Given the description of an element on the screen output the (x, y) to click on. 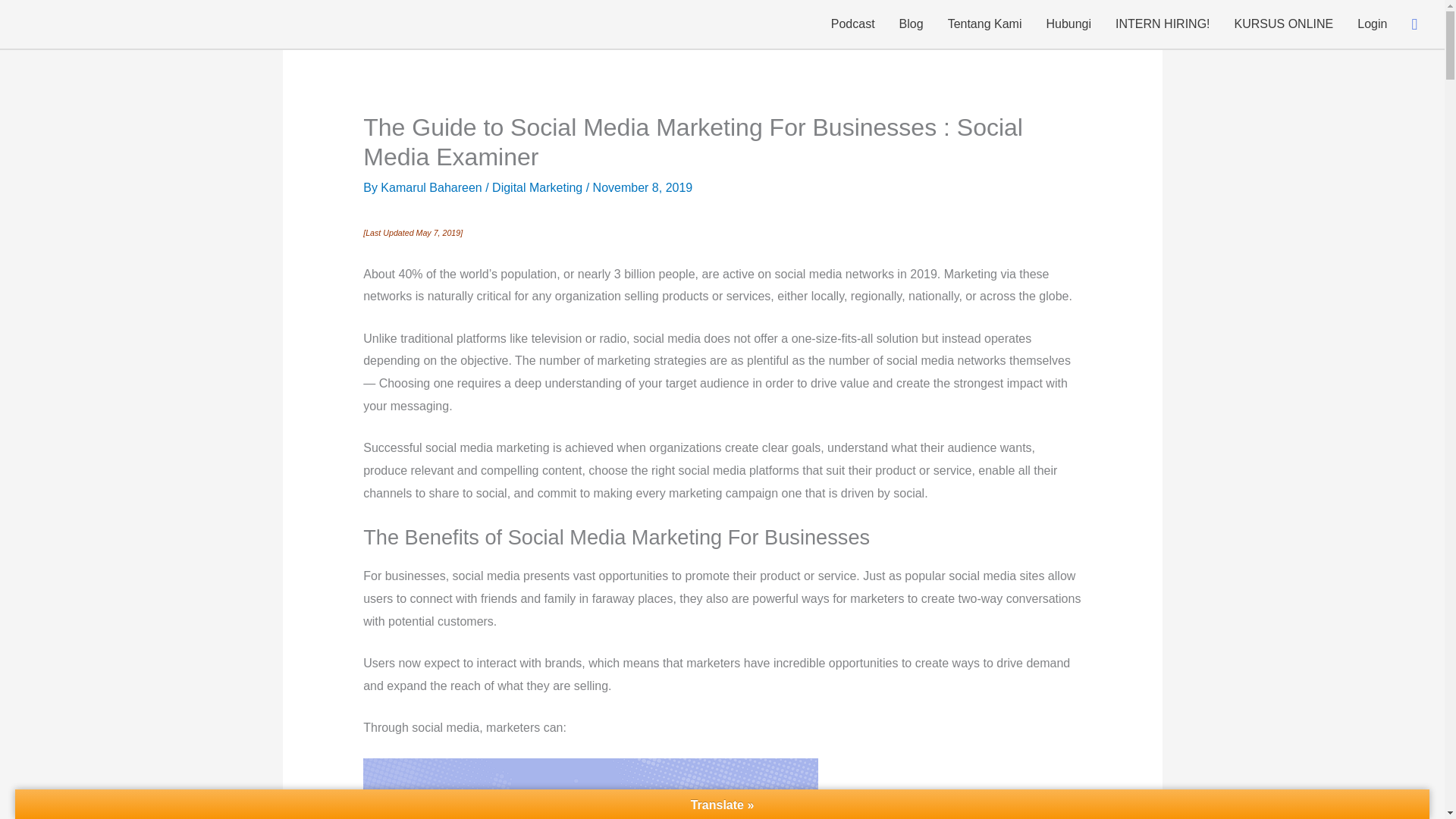
Tentang Kami (984, 24)
Blog (911, 24)
Login (1372, 24)
INTERN HIRING! (1162, 24)
Podcast (852, 24)
Digital Marketing (537, 187)
KURSUS ONLINE (1284, 24)
Kamarul Bahareen (432, 187)
Hubungi (1068, 24)
View all posts by Kamarul Bahareen (432, 187)
